Given the description of an element on the screen output the (x, y) to click on. 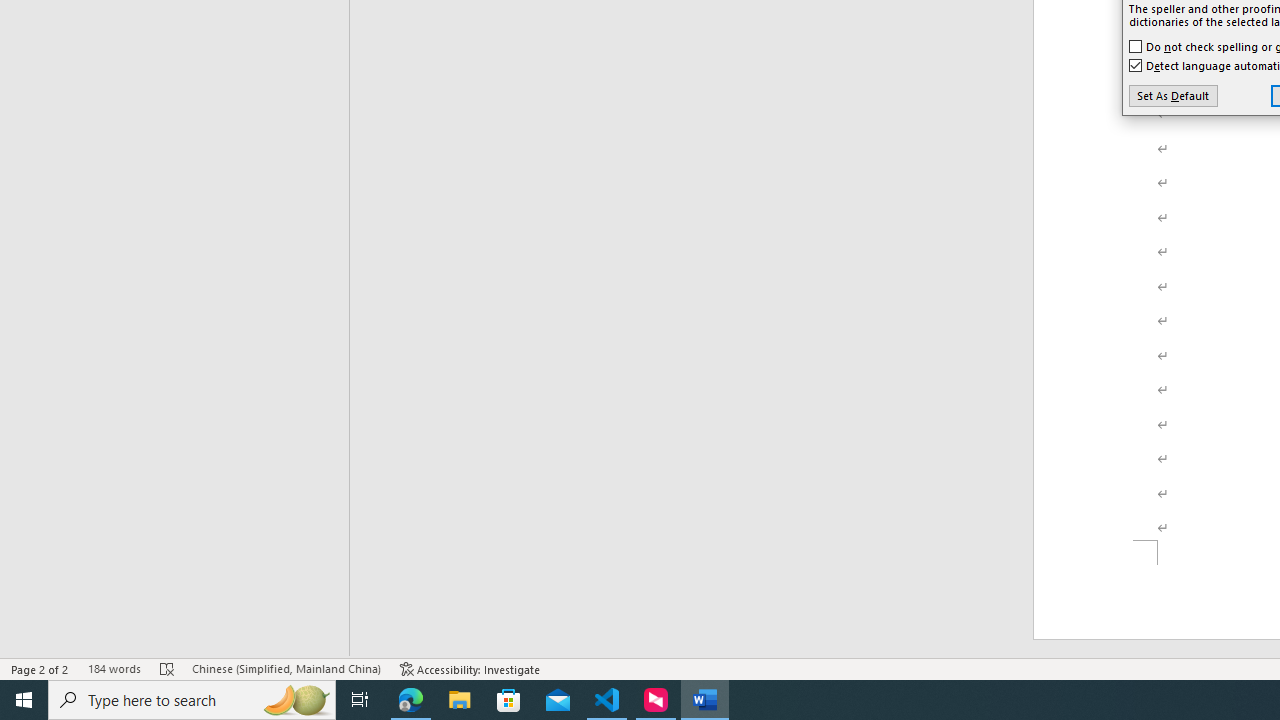
Page Number Page 2 of 2 (39, 668)
Word Count 184 words (113, 668)
Microsoft Edge - 1 running window (411, 699)
File Explorer (460, 699)
Word - 1 running window (704, 699)
